Given the description of an element on the screen output the (x, y) to click on. 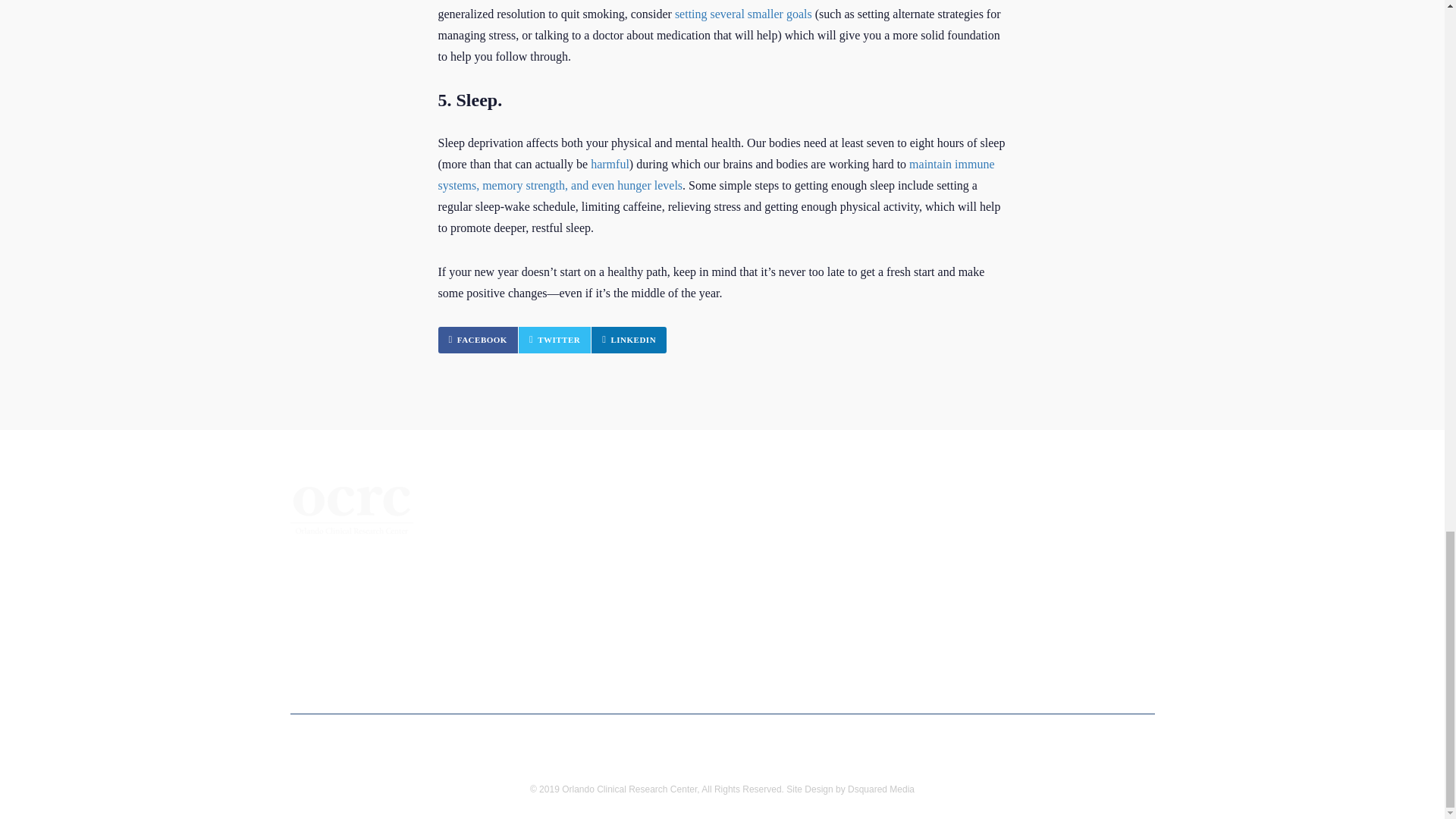
407.240.7878 (355, 611)
LINKEDIN (628, 339)
setting several smaller goals (743, 13)
TWITTER (554, 339)
About Us (535, 555)
Twitter (554, 339)
FACEBOOK (351, 565)
407.240.7878 (478, 339)
